Given the description of an element on the screen output the (x, y) to click on. 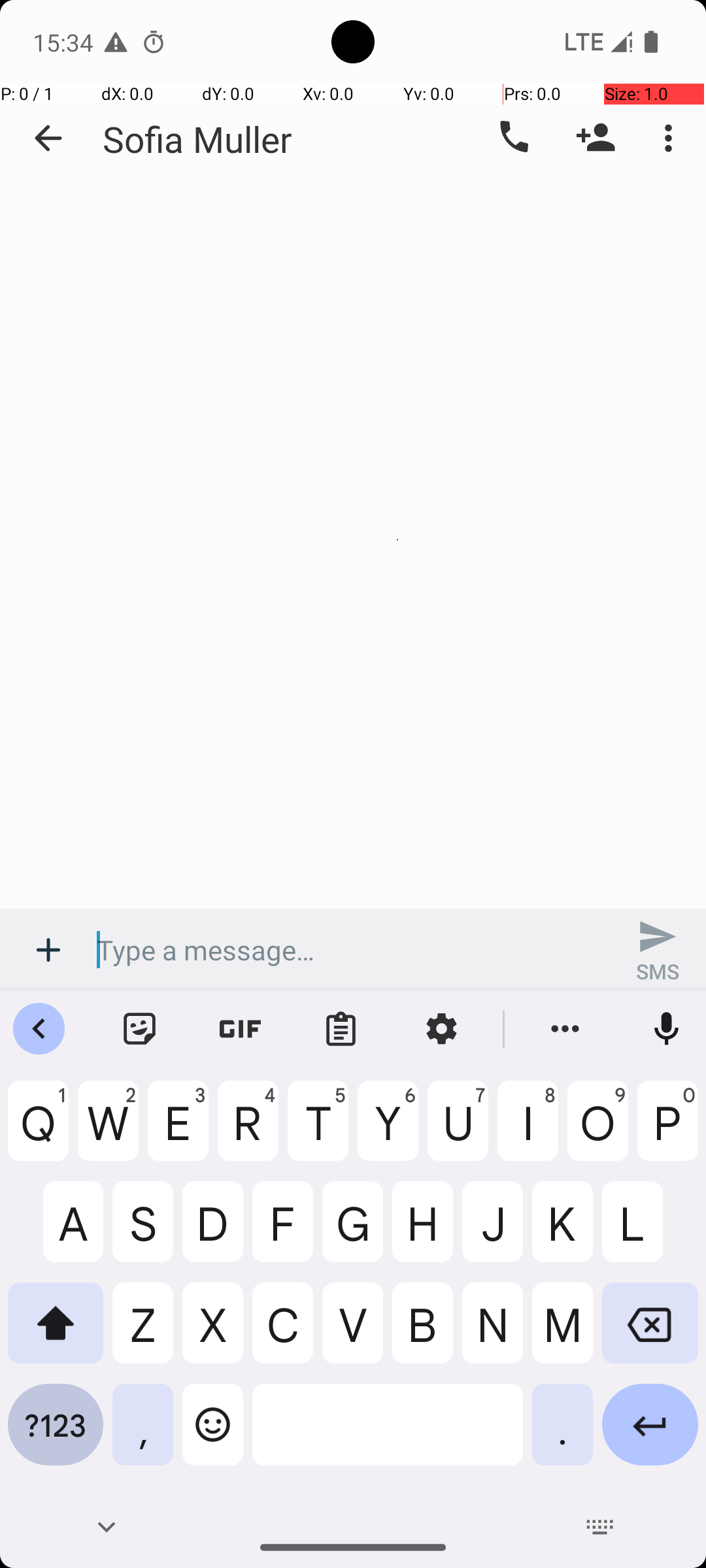
Sofia Muller Element type: android.widget.TextView (197, 138)
